Given the description of an element on the screen output the (x, y) to click on. 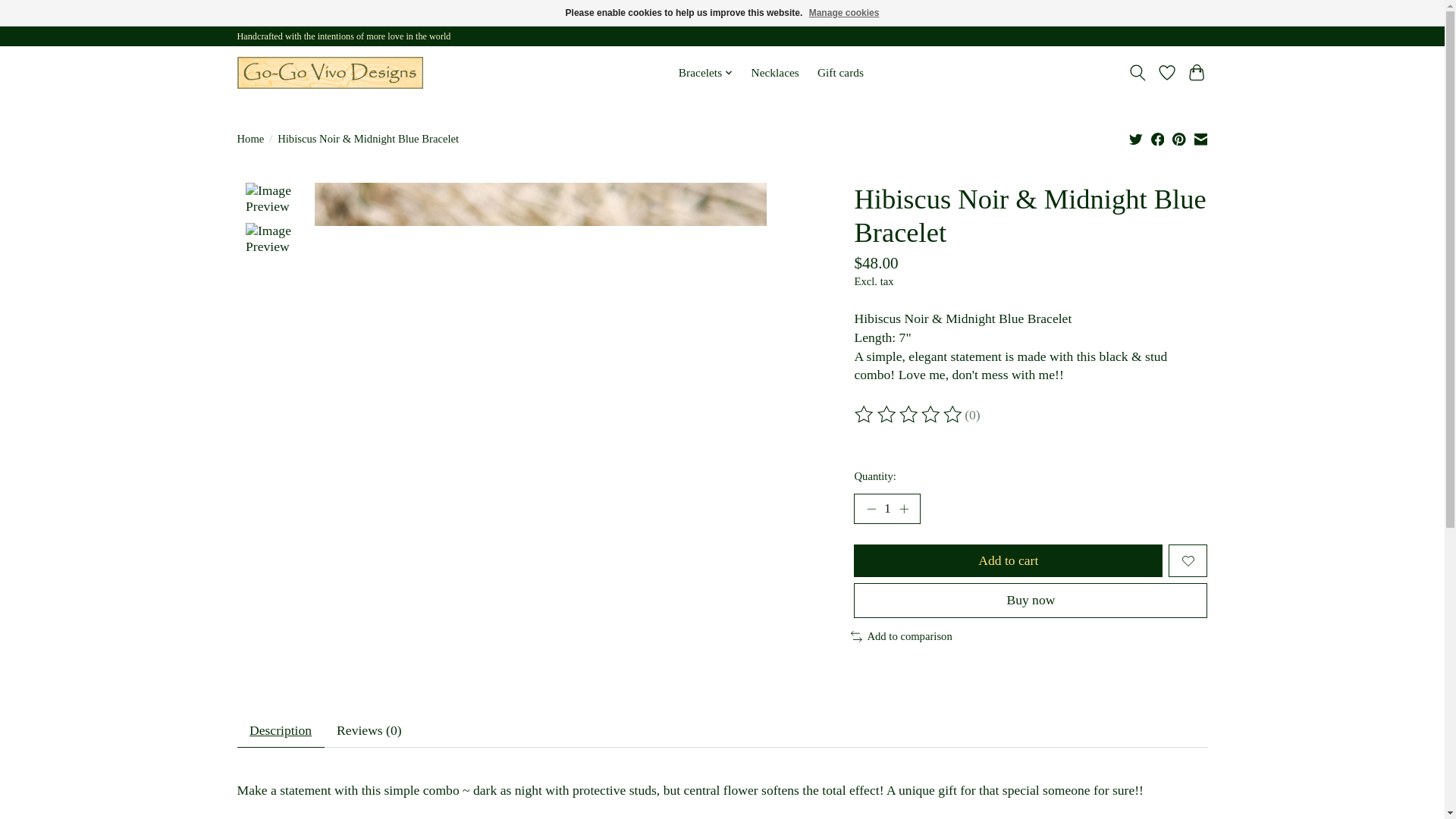
Description (279, 730)
1 (886, 508)
Necklaces (775, 72)
Home (249, 138)
Gift cards (840, 72)
Buy now (1030, 600)
Bracelets (705, 72)
Add to comparison (901, 635)
Leather wrap bracelet (328, 73)
Add to cart (1007, 560)
